Given the description of an element on the screen output the (x, y) to click on. 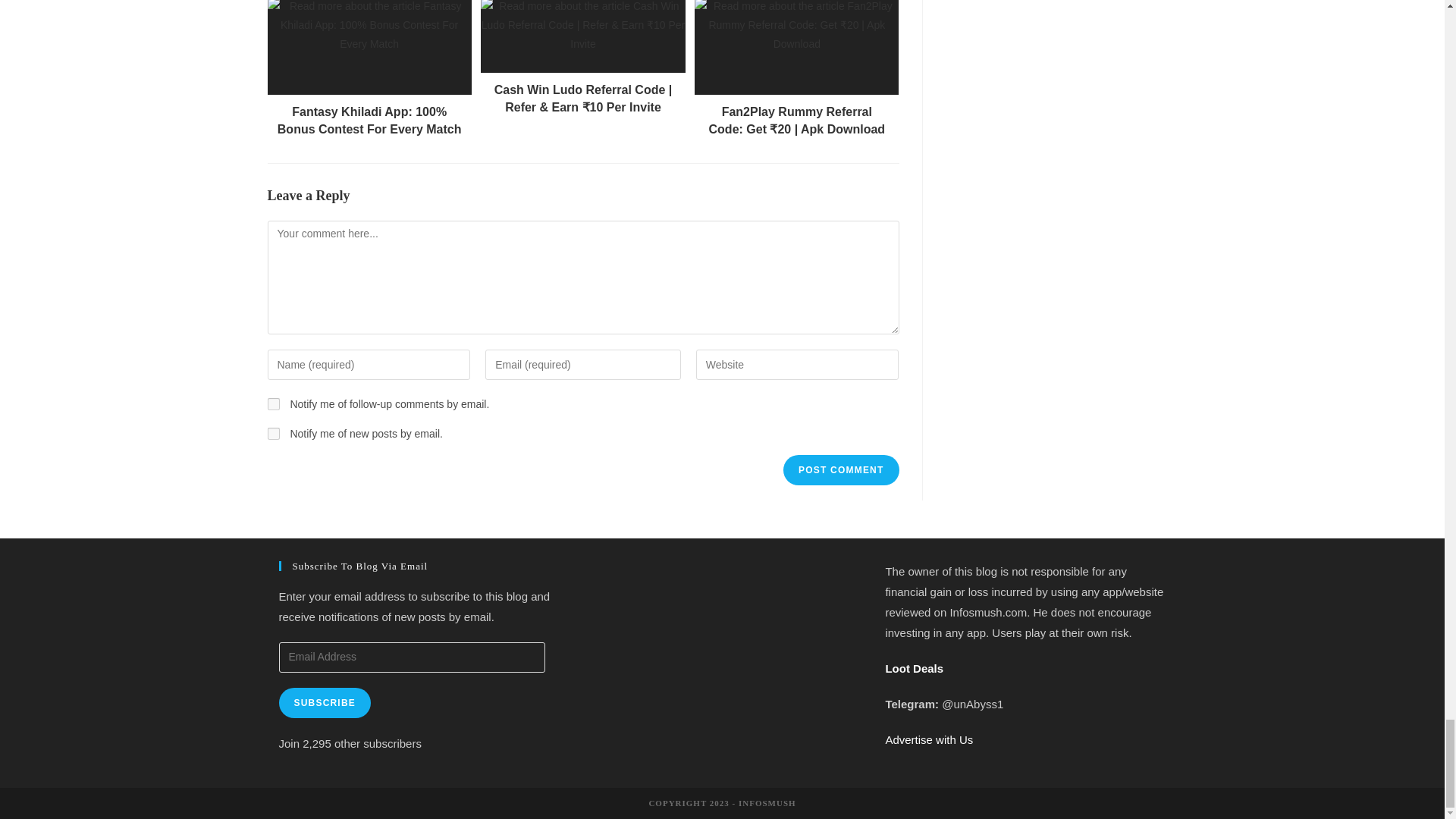
subscribe (272, 404)
subscribe (272, 433)
Post Comment (840, 470)
